Given the description of an element on the screen output the (x, y) to click on. 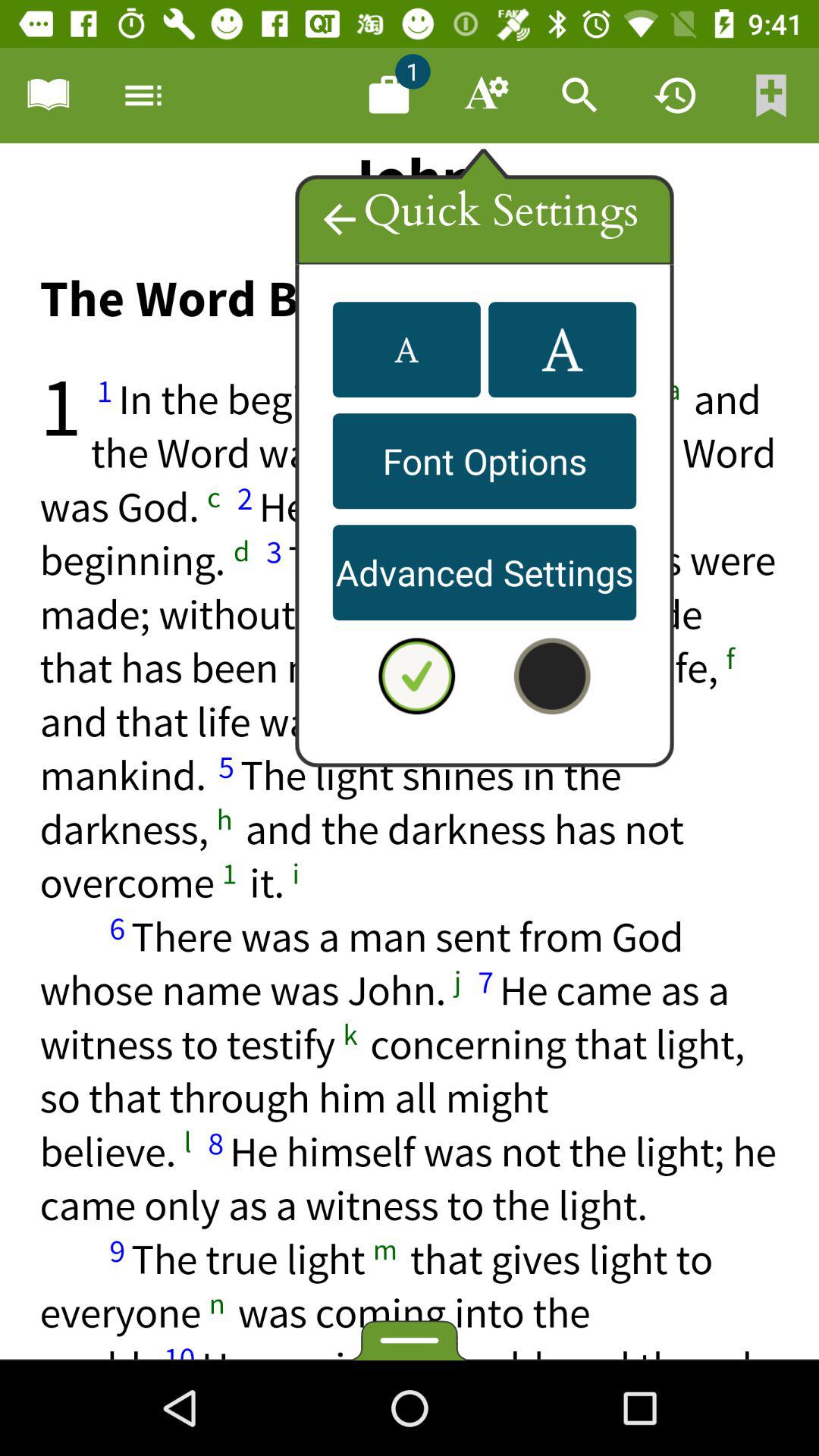
notification suitcase (388, 95)
